Given the description of an element on the screen output the (x, y) to click on. 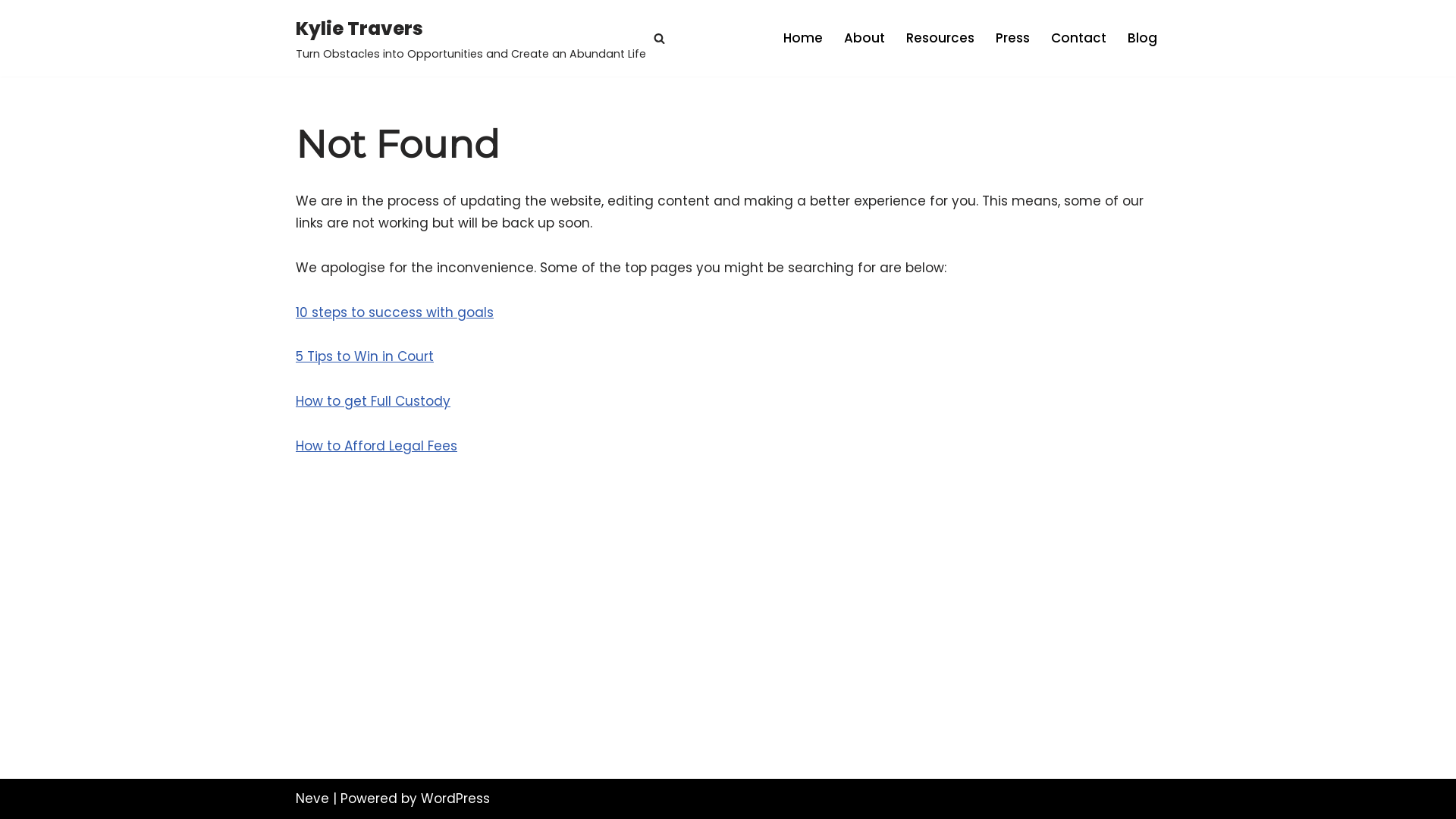
Blog Element type: text (1142, 37)
Skip to content Element type: text (11, 31)
10 steps to success with goals Element type: text (394, 312)
5 Tips to Win in Court Element type: text (364, 356)
WordPress Element type: text (454, 798)
About Element type: text (864, 37)
Neve Element type: text (312, 798)
Home Element type: text (802, 37)
Press Element type: text (1012, 37)
How to get Full Custody Element type: text (372, 401)
How to Afford Legal Fees Element type: text (376, 445)
Contact Element type: text (1078, 37)
Resources Element type: text (940, 37)
